Given the description of an element on the screen output the (x, y) to click on. 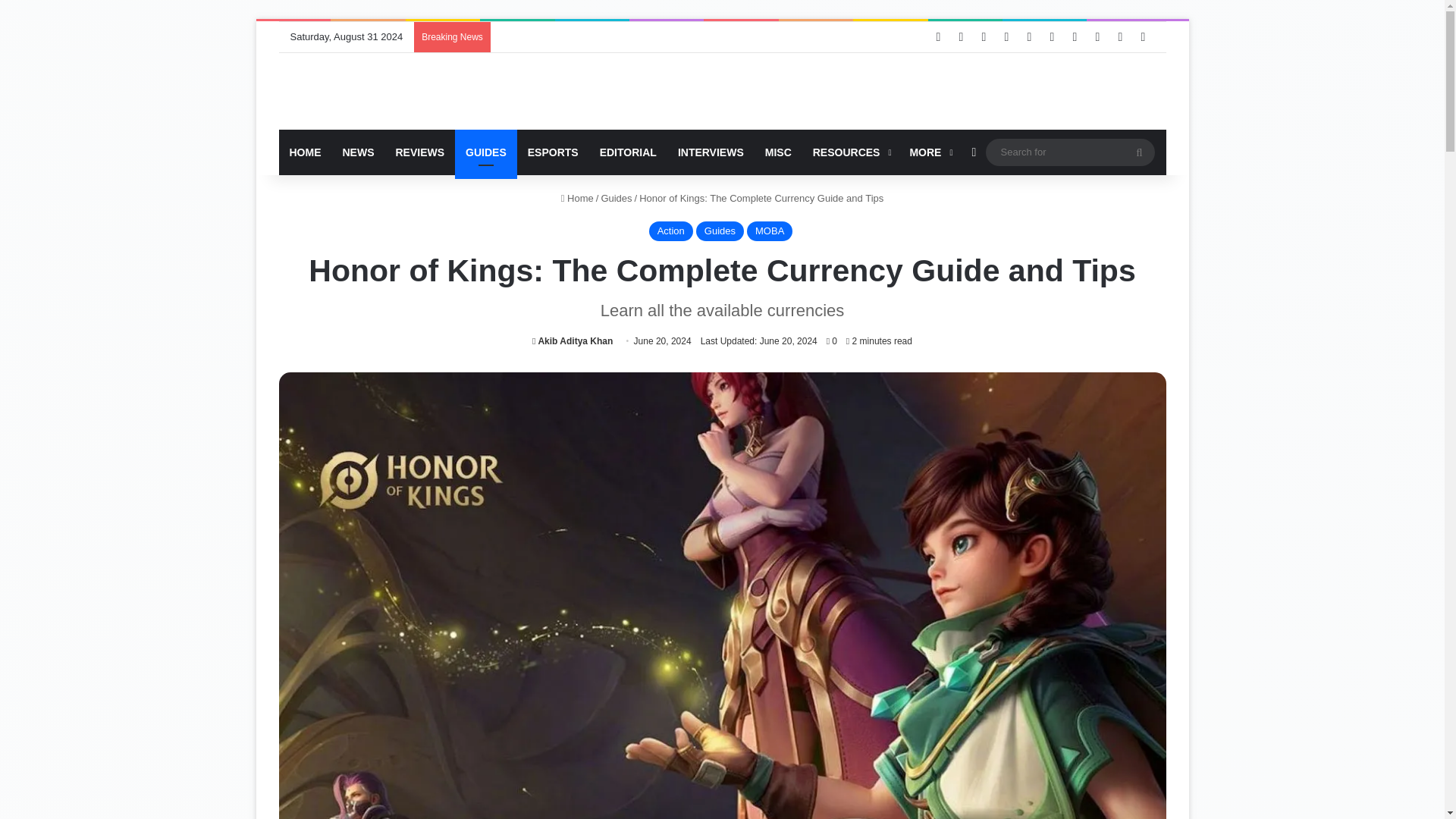
EDITORIAL (627, 152)
MORE (928, 152)
GUIDES (485, 152)
MISC (778, 152)
ESPORTS (552, 152)
REVIEWS (420, 152)
NEWS (358, 152)
HOME (305, 152)
Search for (1069, 151)
INTERVIEWS (710, 152)
